Given the description of an element on the screen output the (x, y) to click on. 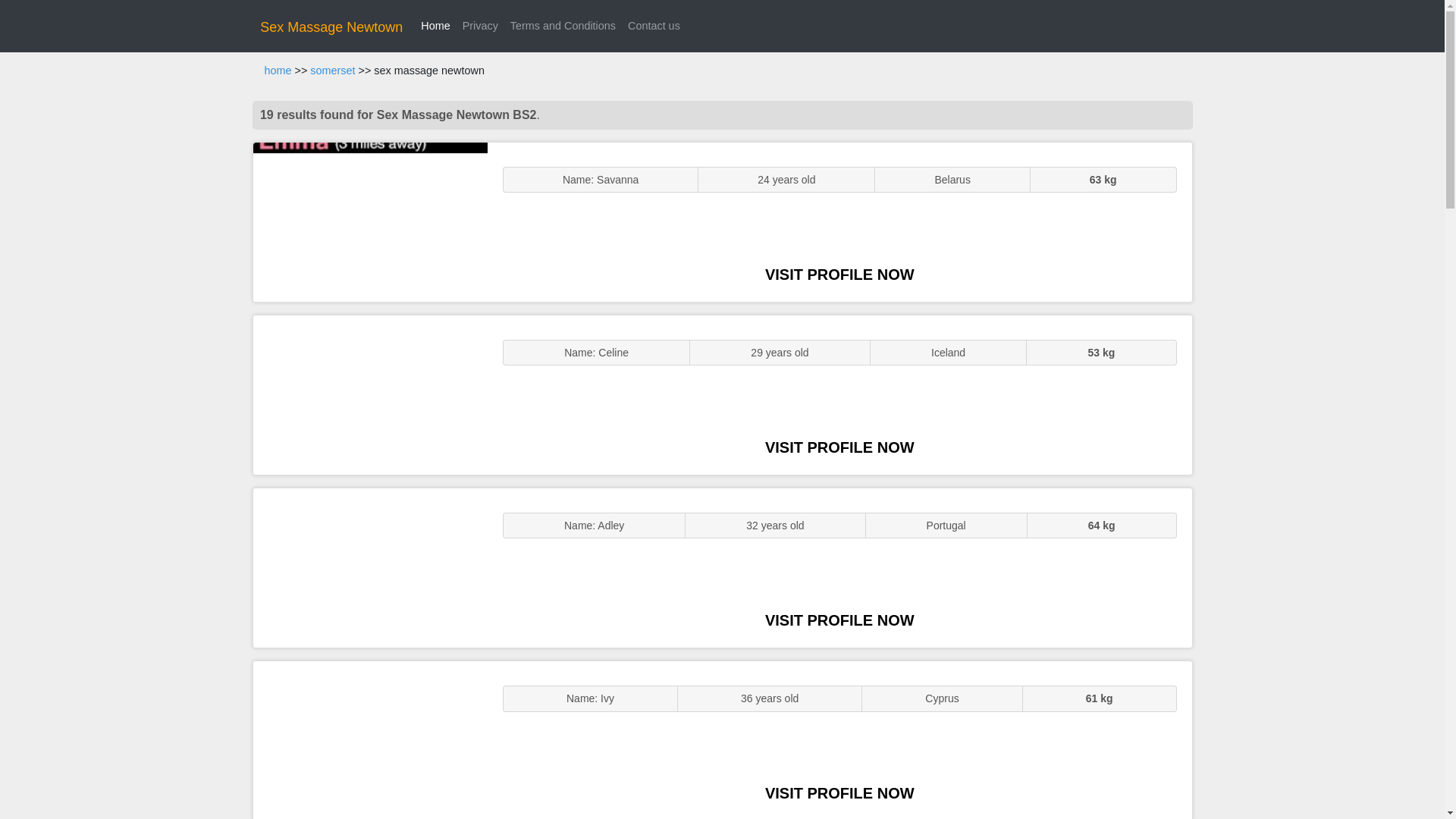
GFE (370, 395)
Contact us (653, 25)
Sluts (370, 739)
VISIT PROFILE NOW (839, 619)
VISIT PROFILE NOW (839, 446)
Privacy (480, 25)
 ENGLISH STUNNER (370, 222)
somerset (332, 70)
Sex Massage Newtown (331, 27)
Terms and Conditions (562, 25)
VISIT PROFILE NOW (839, 792)
VISIT PROFILE NOW (839, 274)
Sexy (370, 567)
home (277, 70)
